Given the description of an element on the screen output the (x, y) to click on. 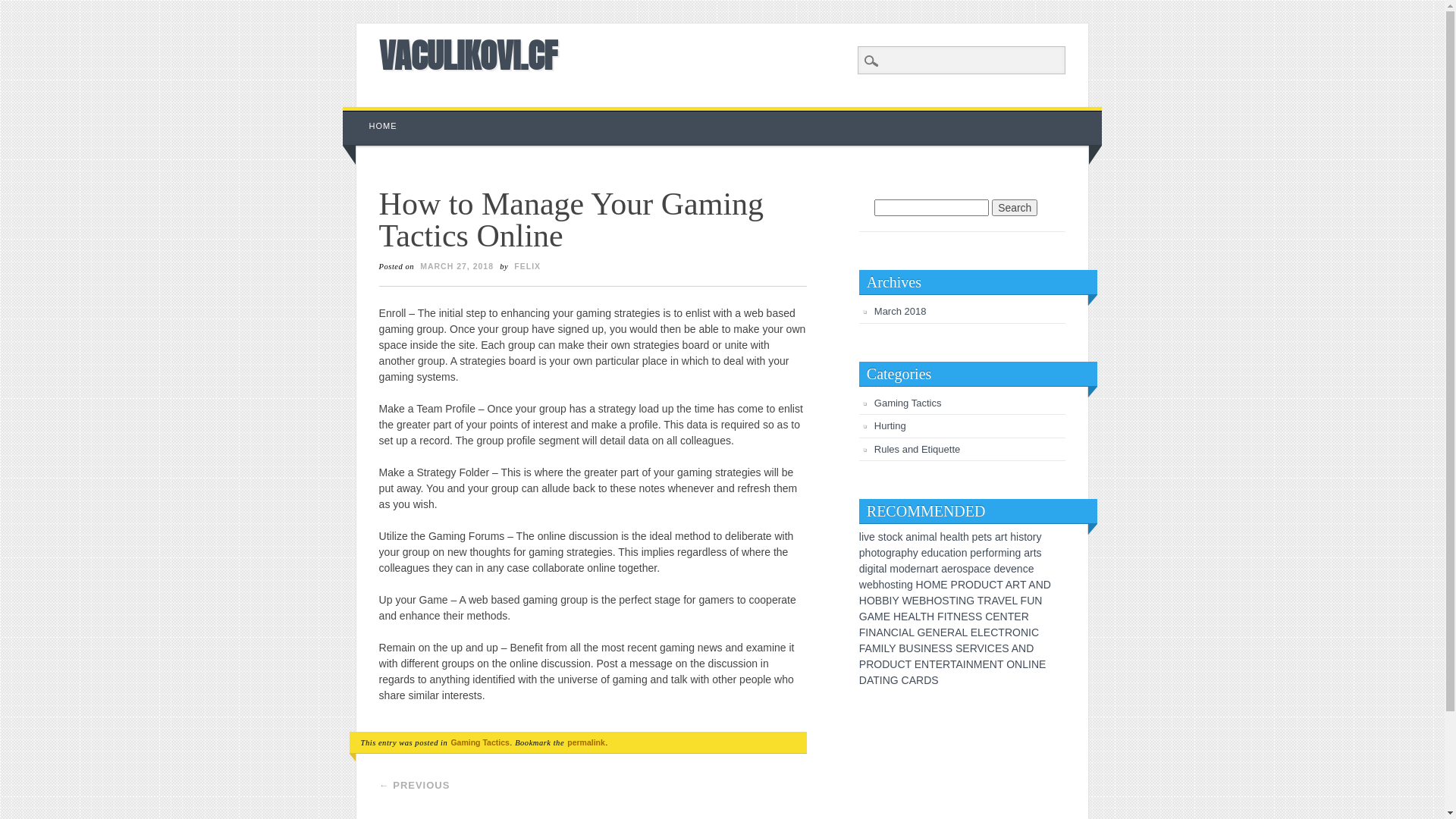
FELIX Element type: text (527, 265)
d Element type: text (996, 568)
E Element type: text (1016, 616)
F Element type: text (862, 648)
V Element type: text (1000, 600)
M Element type: text (936, 584)
h Element type: text (881, 584)
A Element type: text (957, 632)
Y Element type: text (894, 600)
N Element type: text (993, 664)
C Element type: text (990, 648)
I Element type: text (866, 632)
T Element type: text (1000, 664)
T Element type: text (952, 600)
I Element type: text (921, 648)
n Element type: text (1012, 552)
Search Element type: text (22, 8)
N Element type: text (936, 632)
Gaming Tactics Element type: text (479, 741)
E Element type: text (943, 632)
T Element type: text (931, 664)
D Element type: text (927, 680)
O Element type: text (1010, 664)
N Element type: text (924, 664)
c Element type: text (1025, 568)
o Element type: text (959, 568)
N Element type: text (887, 632)
E Element type: text (943, 584)
N Element type: text (1003, 616)
I Element type: text (882, 648)
r Element type: text (893, 552)
N Element type: text (1034, 664)
t Element type: text (961, 536)
a Element type: text (928, 568)
S Element type: text (941, 648)
T Element type: text (908, 664)
R Element type: text (987, 600)
A Element type: text (1008, 584)
e Element type: text (913, 568)
b Element type: text (875, 584)
r Element type: text (955, 568)
U Element type: text (1030, 600)
I Element type: text (880, 680)
t Element type: text (876, 568)
E Element type: text (965, 648)
m Element type: text (893, 568)
p Element type: text (970, 568)
o Element type: text (1029, 536)
i Element type: text (918, 536)
f Element type: text (986, 552)
S Element type: text (1004, 648)
N Element type: text (1018, 664)
L Element type: text (1013, 600)
C Element type: text (992, 584)
G Element type: text (920, 632)
H Element type: text (862, 600)
L Element type: text (910, 632)
s Element type: text (892, 584)
I Element type: text (889, 600)
A Element type: text (878, 632)
t Element type: text (1024, 536)
d Element type: text (862, 568)
t Element type: text (984, 536)
e Element type: text (872, 536)
O Element type: text (877, 664)
I Element type: text (964, 664)
A Element type: text (870, 616)
S Element type: text (944, 600)
p Element type: text (862, 552)
N Element type: text (1024, 632)
O Element type: text (870, 600)
e Element type: text (948, 536)
D Element type: text (977, 584)
o Element type: text (991, 552)
S Element type: text (978, 616)
T Element type: text (953, 664)
Rules and Etiquette Element type: text (917, 449)
N Element type: text (969, 664)
R Element type: text (973, 648)
m Element type: text (1002, 552)
L Element type: text (964, 632)
I Element type: text (1029, 664)
r Element type: text (933, 568)
L Element type: text (885, 648)
r Element type: text (917, 568)
a Element type: text (1026, 552)
C Element type: text (900, 664)
t Element type: text (877, 552)
N Element type: text (1022, 648)
E Element type: text (1007, 600)
a Element type: text (954, 536)
e Element type: text (869, 584)
l Element type: text (885, 568)
g Element type: text (909, 584)
s Element type: text (1020, 536)
S Element type: text (971, 616)
C Element type: text (1034, 632)
g Element type: text (870, 568)
R Element type: text (946, 664)
o Element type: text (889, 536)
i Element type: text (874, 568)
S Element type: text (916, 648)
S Element type: text (948, 648)
s Element type: text (1038, 552)
o Element type: text (882, 552)
R Element type: text (1025, 616)
s Element type: text (964, 568)
o Element type: text (873, 552)
r Element type: text (1034, 536)
H Element type: text (929, 600)
C Element type: text (905, 680)
s Element type: text (988, 536)
T Element type: text (923, 616)
E Element type: text (995, 616)
r Element type: text (1002, 536)
B Element type: text (901, 648)
w Element type: text (862, 584)
T Element type: text (1000, 632)
E Element type: text (963, 616)
M Element type: text (878, 616)
H Element type: text (919, 584)
H Element type: text (930, 616)
E Element type: text (917, 664)
T Element type: text (980, 600)
F Element type: text (862, 632)
L Element type: text (980, 632)
n Element type: text (922, 568)
O Element type: text (937, 600)
V Element type: text (980, 648)
a Element type: text (947, 552)
T Element type: text (875, 680)
N Element type: text (871, 632)
p Element type: text (975, 536)
p Element type: text (903, 552)
E Element type: text (986, 632)
v Element type: text (1007, 568)
E Element type: text (997, 648)
o Element type: text (958, 552)
c Element type: text (941, 552)
E Element type: text (903, 616)
B Element type: text (878, 600)
r Element type: text (1031, 552)
L Element type: text (1025, 664)
m Element type: text (923, 536)
R Element type: text (1008, 632)
F Element type: text (940, 616)
G Element type: text (863, 616)
t Element type: text (896, 584)
permalink Element type: text (585, 741)
a Element type: text (997, 536)
k Element type: text (899, 536)
A Element type: text (869, 680)
o Element type: text (901, 568)
R Element type: text (919, 680)
A Element type: text (994, 600)
p Element type: text (972, 552)
A Element type: text (910, 616)
E Element type: text (973, 632)
H Element type: text (896, 616)
Hurting Element type: text (890, 425)
i Element type: text (1008, 552)
E Element type: text (915, 600)
g Element type: text (888, 552)
Search Element type: text (1014, 207)
i Element type: text (866, 568)
D Element type: text (885, 664)
M Element type: text (876, 648)
L Element type: text (917, 616)
t Element type: text (884, 536)
e Element type: text (924, 552)
VACULIKOVI.CF Element type: text (468, 55)
I Element type: text (985, 648)
Y Element type: text (891, 648)
d Element type: text (929, 552)
S Element type: text (934, 680)
a Element type: text (881, 568)
N Element type: text (1037, 600)
I Element type: text (956, 600)
c Element type: text (982, 568)
B Element type: text (922, 600)
y Element type: text (1038, 536)
I Element type: text (899, 632)
D Element type: text (1029, 648)
s Element type: text (880, 536)
e Element type: text (978, 552)
C Element type: text (993, 632)
Gaming Tactics Element type: text (907, 402)
O Element type: text (927, 584)
t Element type: text (1005, 536)
l Element type: text (860, 536)
h Element type: text (909, 552)
R Element type: text (961, 584)
T Element type: text (999, 584)
r Element type: text (995, 552)
O Element type: text (1016, 632)
T Element type: text (1022, 584)
e Element type: text (1031, 568)
MARCH 27, 2018 Element type: text (456, 265)
r Element type: text (983, 552)
I Element type: text (1029, 632)
N Element type: text (1039, 584)
F Element type: text (1023, 600)
M Element type: text (977, 664)
A Element type: text (1031, 584)
i Element type: text (899, 584)
h Element type: text (868, 552)
I Element type: text (945, 616)
l Element type: text (958, 536)
E Element type: text (985, 664)
G Element type: text (894, 680)
h Element type: text (1013, 536)
y Element type: text (915, 552)
e Element type: text (988, 568)
A Element type: text (912, 680)
A Element type: text (868, 648)
B Element type: text (884, 600)
N Element type: text (886, 680)
March 2018 Element type: text (900, 310)
n Element type: text (914, 536)
E Element type: text (886, 616)
P Element type: text (953, 584)
d Element type: text (907, 568)
N Element type: text (962, 600)
g Element type: text (1018, 552)
HOME Element type: text (383, 125)
u Element type: text (935, 552)
n Element type: text (1019, 568)
A Element type: text (1014, 648)
a Element type: text (908, 536)
v Element type: text (866, 536)
G Element type: text (970, 600)
i Element type: text (954, 552)
N Element type: text (956, 616)
E Element type: text (938, 664)
C Element type: text (894, 632)
D Element type: text (862, 680)
h Element type: text (966, 536)
A Element type: text (958, 664)
W Element type: text (906, 600)
h Element type: text (943, 536)
l Element type: text (935, 536)
Skip to content Element type: text (377, 114)
t Element type: text (951, 552)
S Element type: text (958, 648)
e Element type: text (950, 568)
R Element type: text (950, 632)
i Element type: text (1017, 536)
o Element type: text (887, 584)
P Element type: text (862, 664)
O Element type: text (969, 584)
U Element type: text (893, 664)
a Element type: text (931, 536)
A Element type: text (904, 632)
n Element type: text (964, 552)
t Element type: text (936, 568)
E Element type: text (928, 632)
E Element type: text (934, 648)
t Element type: text (1034, 552)
e Element type: text (1002, 568)
a Element type: text (976, 568)
U Element type: text (984, 584)
n Element type: text (903, 584)
C Element type: text (988, 616)
T Element type: text (1010, 616)
R Element type: text (869, 664)
c Element type: text (894, 536)
a Element type: text (897, 552)
U Element type: text (909, 648)
a Element type: text (944, 568)
T Element type: text (950, 616)
N Element type: text (927, 648)
R Element type: text (1015, 584)
i Element type: text (862, 536)
D Element type: text (1047, 584)
E Element type: text (1041, 664)
e Element type: text (980, 536)
e Element type: text (1013, 568)
